Given the description of an element on the screen output the (x, y) to click on. 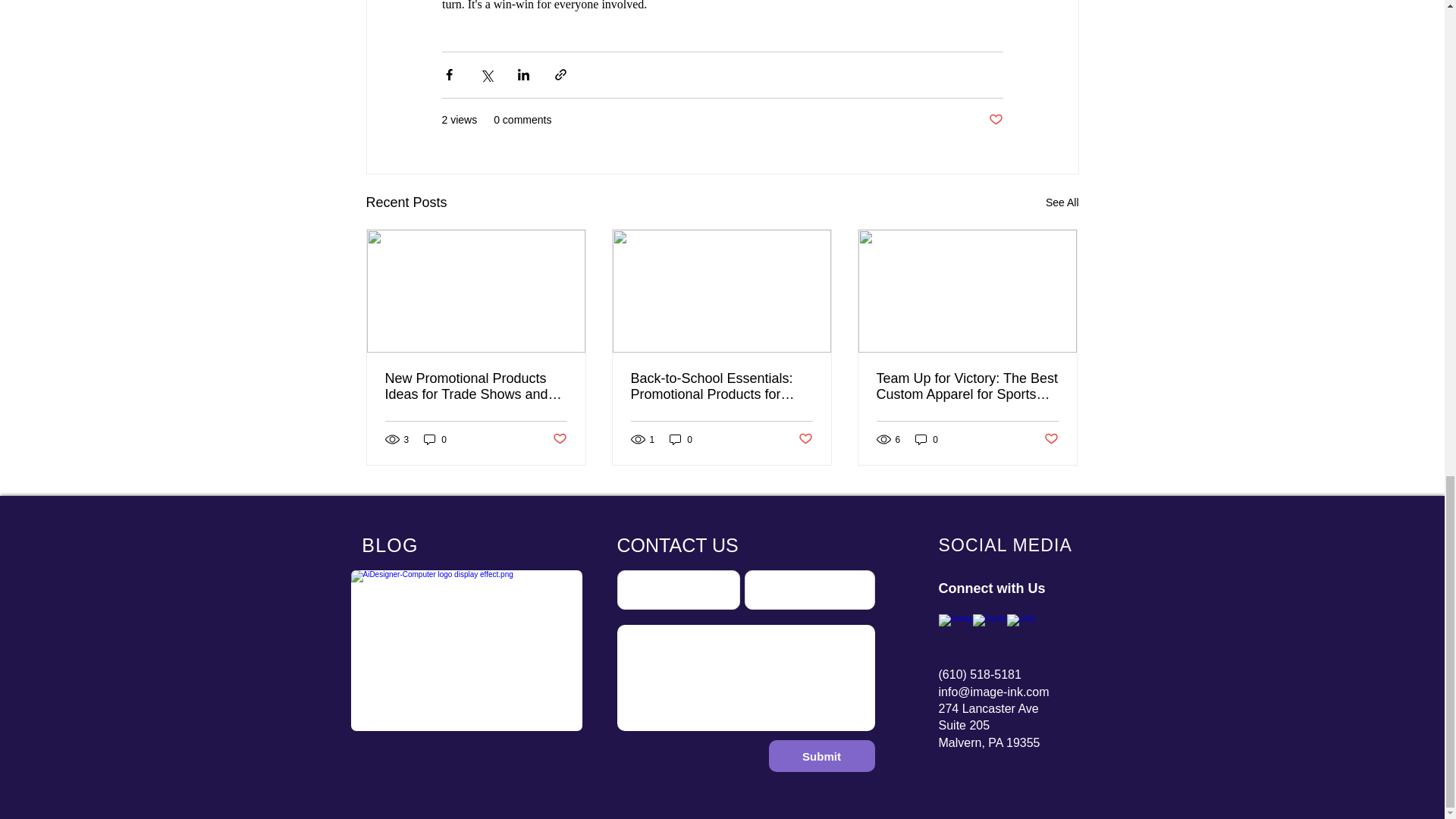
0 (926, 439)
0 (435, 439)
Submit (821, 756)
AiDesigner-Logo effect drawing of work c (465, 650)
See All (1061, 202)
Post not marked as liked (804, 439)
Post not marked as liked (1050, 439)
0 (681, 439)
